Given the description of an element on the screen output the (x, y) to click on. 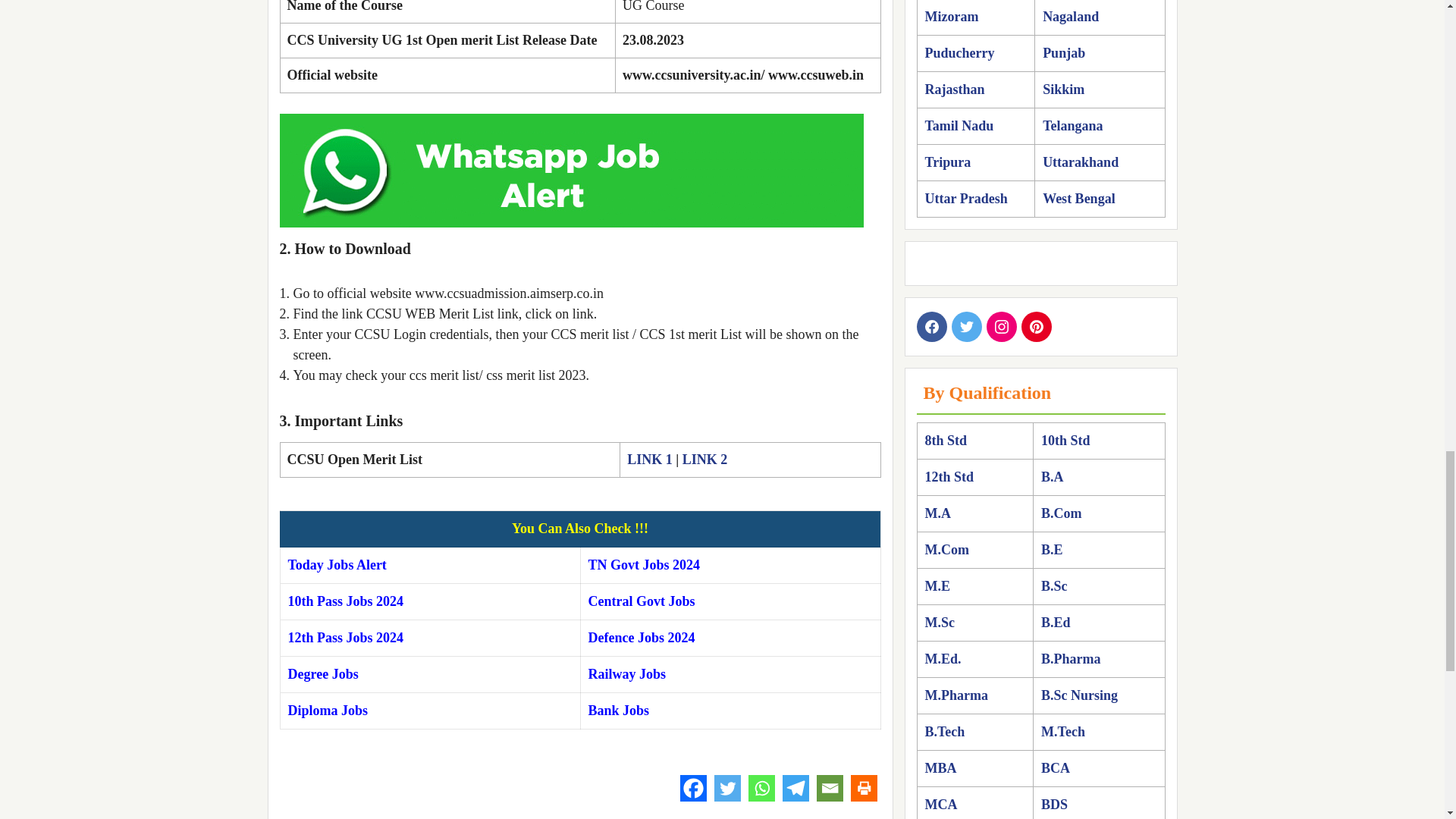
Today Jobs Alert (337, 564)
LINK 1 (649, 459)
LINK 2 (705, 459)
